Given the description of an element on the screen output the (x, y) to click on. 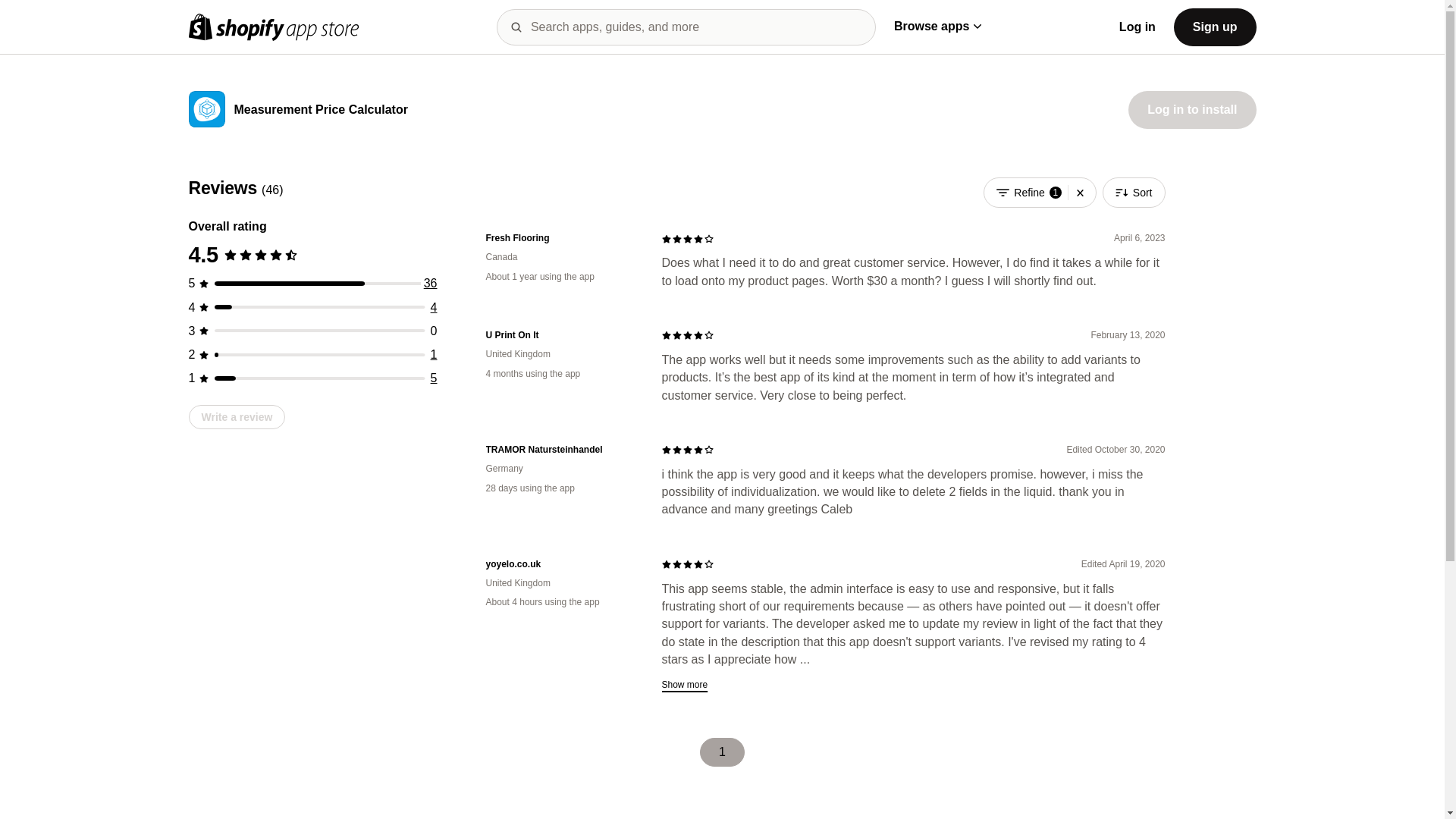
Measurement Price Calculator (319, 110)
Write a review (236, 416)
yoyelo.co.uk (560, 563)
U Print On It (560, 335)
TRAMOR Natursteinhandel (560, 449)
Browse apps (937, 26)
Log in to install (1191, 109)
Log in (1137, 27)
Fresh Flooring (560, 237)
Sign up (1214, 26)
